Given the description of an element on the screen output the (x, y) to click on. 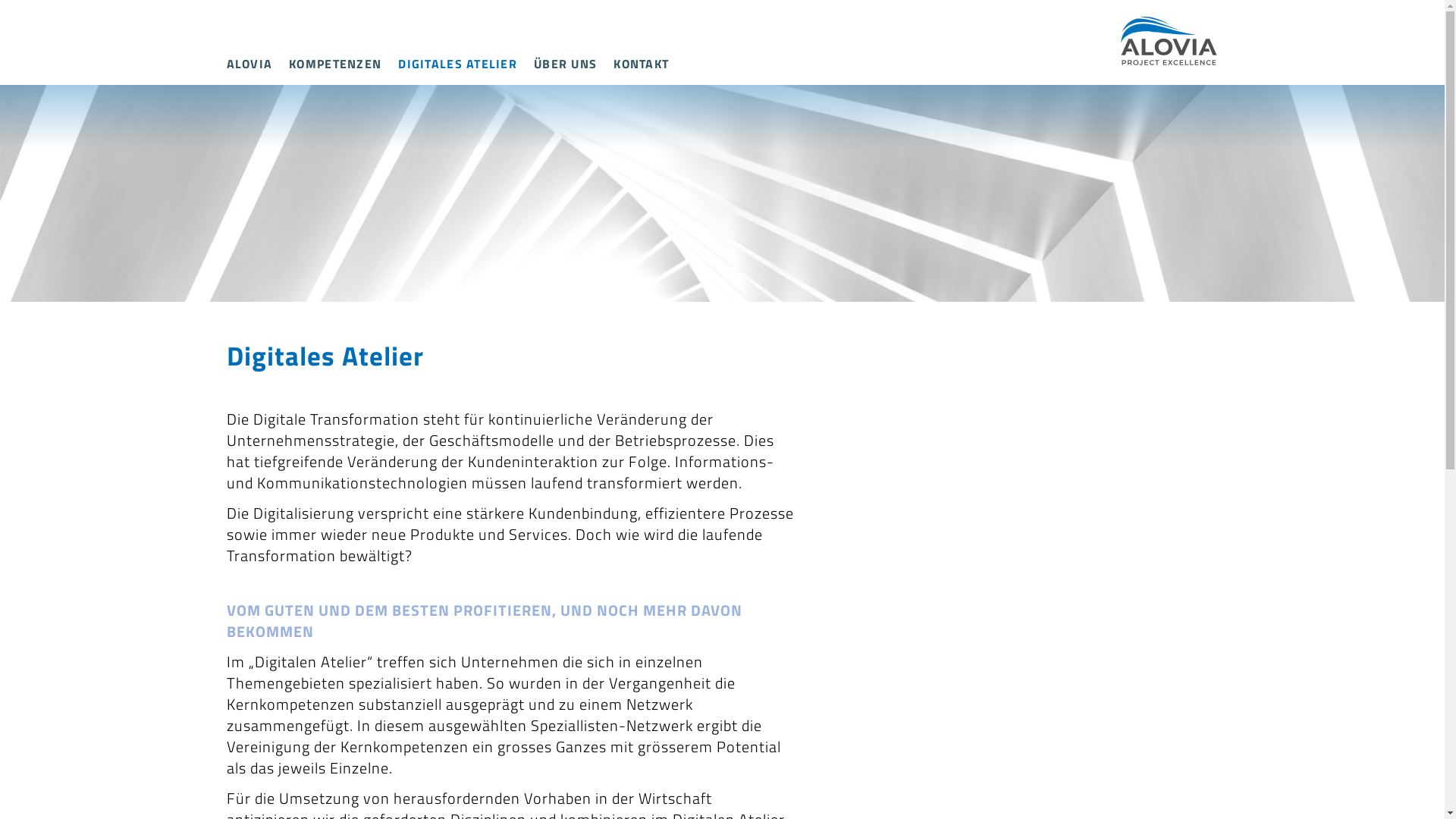
KONTAKT Element type: text (640, 63)
ALOVIA Element type: text (248, 63)
DIGITALES ATELIER Element type: text (457, 63)
KOMPETENZEN Element type: text (334, 63)
